Given the description of an element on the screen output the (x, y) to click on. 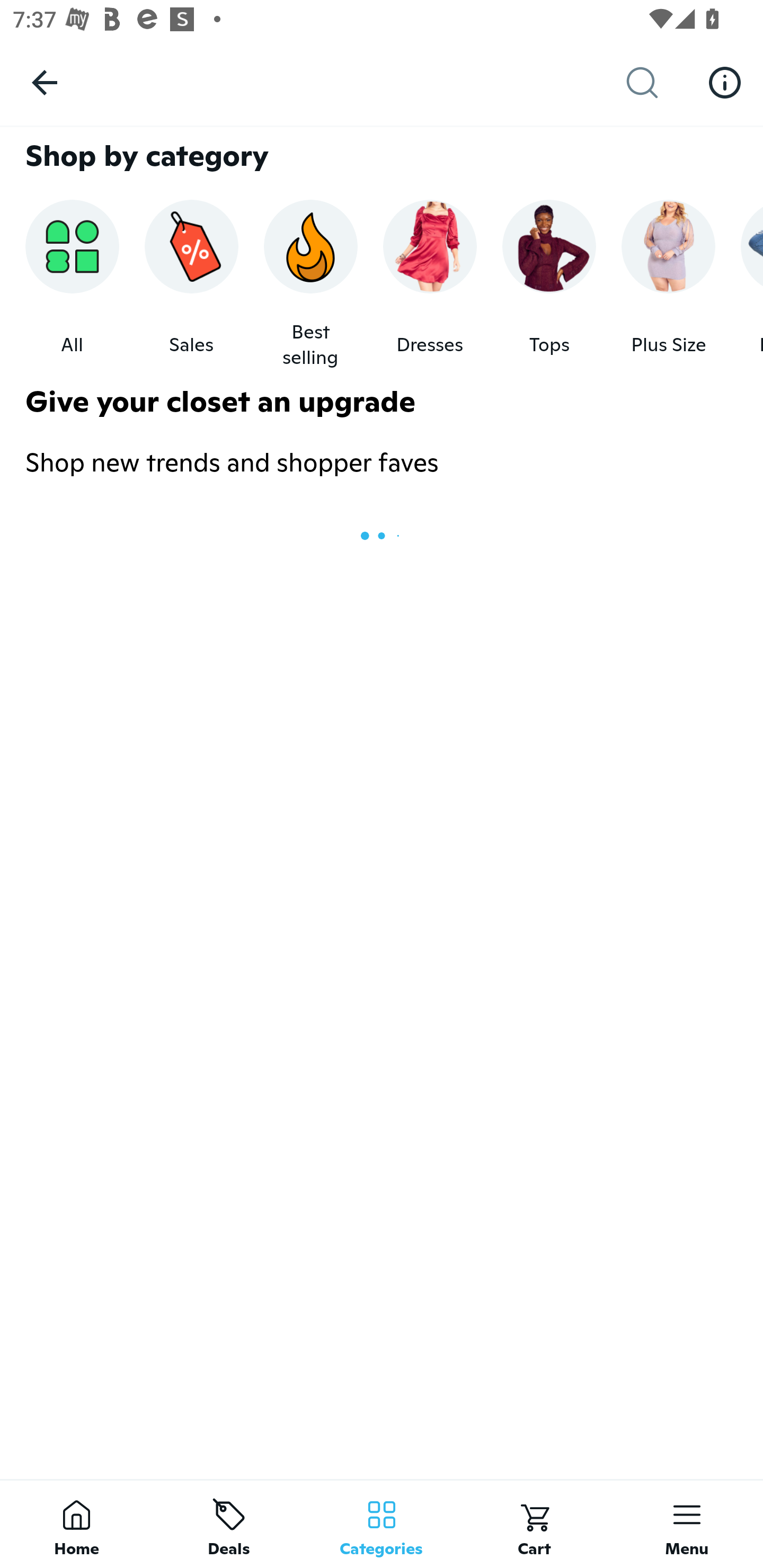
Navigate up (44, 82)
Learn More (724, 81)
Search (656, 82)
All (72, 284)
Sales (191, 284)
Best selling (310, 284)
Dresses (429, 284)
Tops (548, 284)
Plus Size (668, 284)
Home (76, 1523)
Deals (228, 1523)
Categories (381, 1523)
Cart (533, 1523)
Menu (686, 1523)
